Given the description of an element on the screen output the (x, y) to click on. 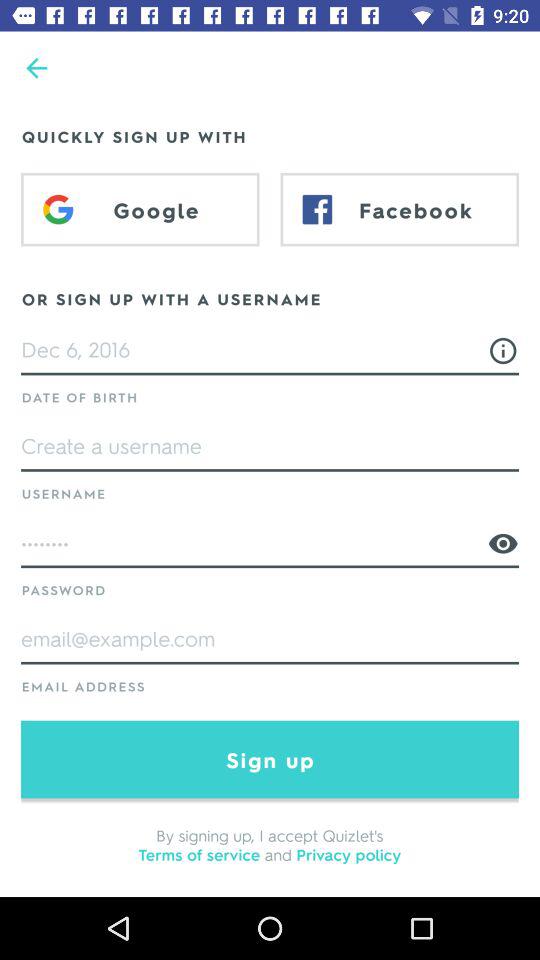
turn off the icon next to facebook icon (140, 209)
